Given the description of an element on the screen output the (x, y) to click on. 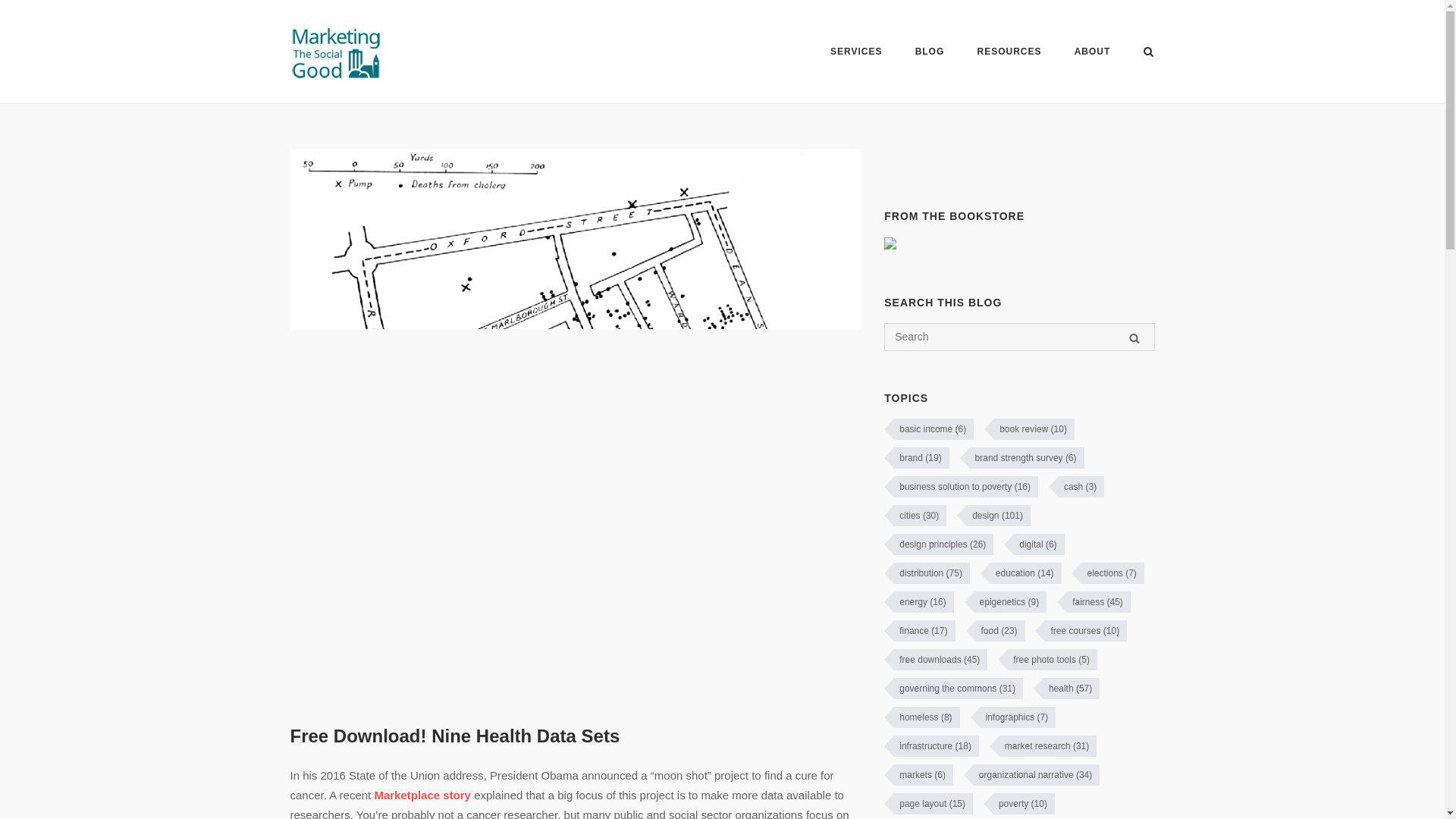
BLOG (929, 52)
ABOUT (1092, 53)
Marketplace story (422, 794)
SERVICES (855, 52)
RESOURCES (1008, 52)
